Given the description of an element on the screen output the (x, y) to click on. 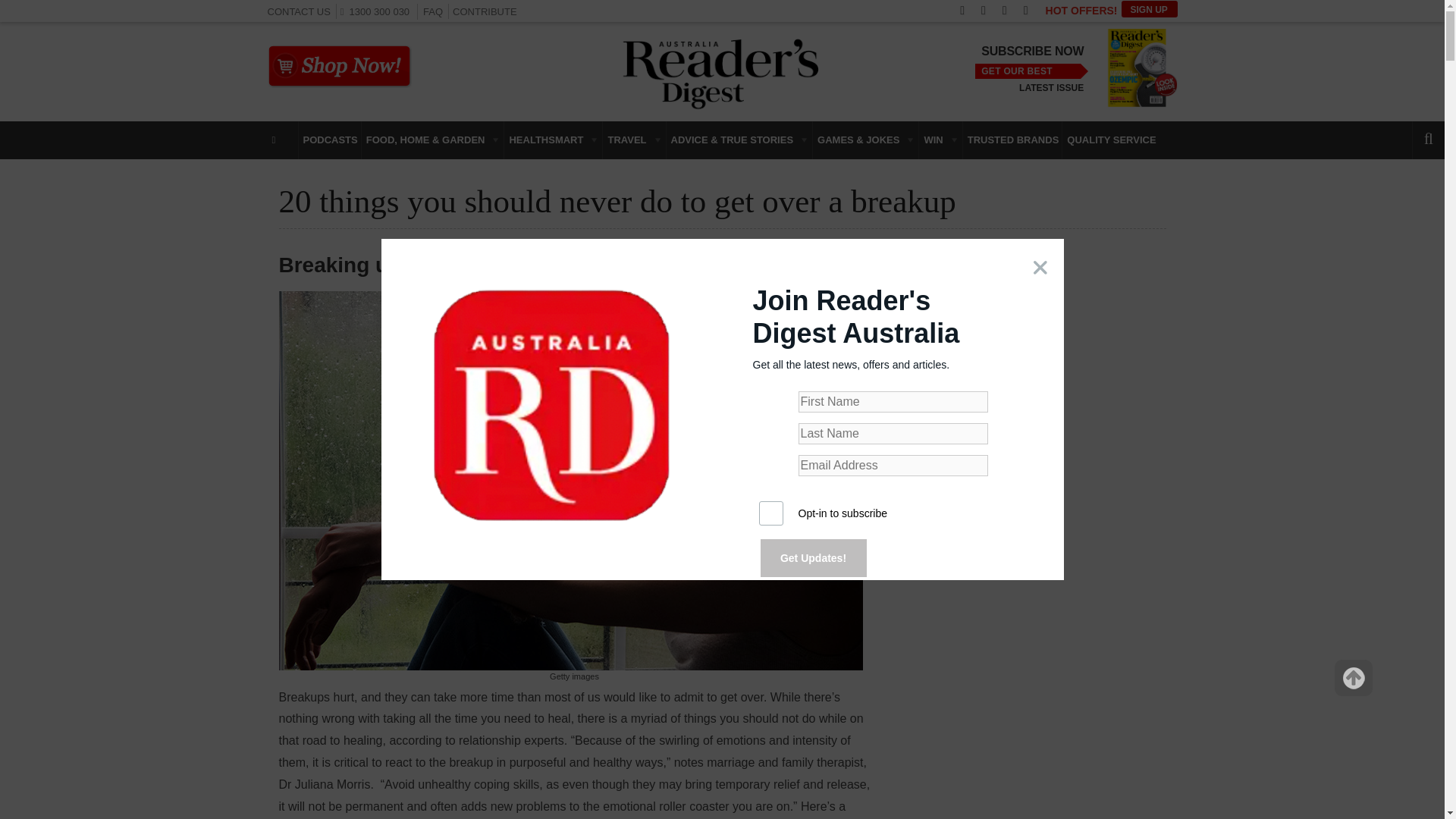
LATEST ISSUE (1051, 87)
TRAVEL (633, 139)
PODCASTS (329, 139)
FAQ (432, 11)
1300 300 030 (378, 11)
SUBSCRIBE NOW (1032, 51)
HEALTHSMART (552, 139)
CONTACT US (298, 11)
CONTRIBUTE (484, 11)
SIGN UP (1148, 8)
